Given the description of an element on the screen output the (x, y) to click on. 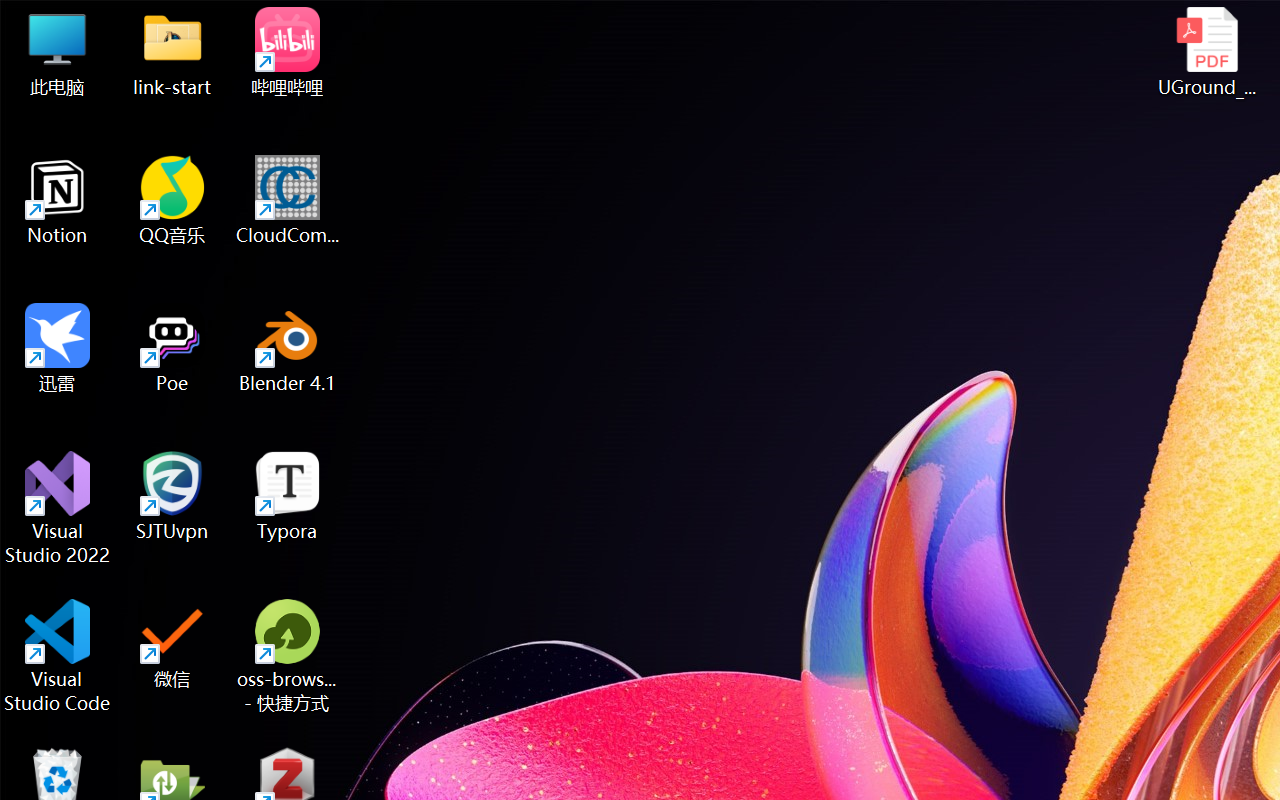
Blender 4.1 (287, 348)
Visual Studio Code (57, 656)
SJTUvpn (172, 496)
Visual Studio 2022 (57, 508)
CloudCompare (287, 200)
Typora (287, 496)
UGround_paper.pdf (1206, 52)
